Given the description of an element on the screen output the (x, y) to click on. 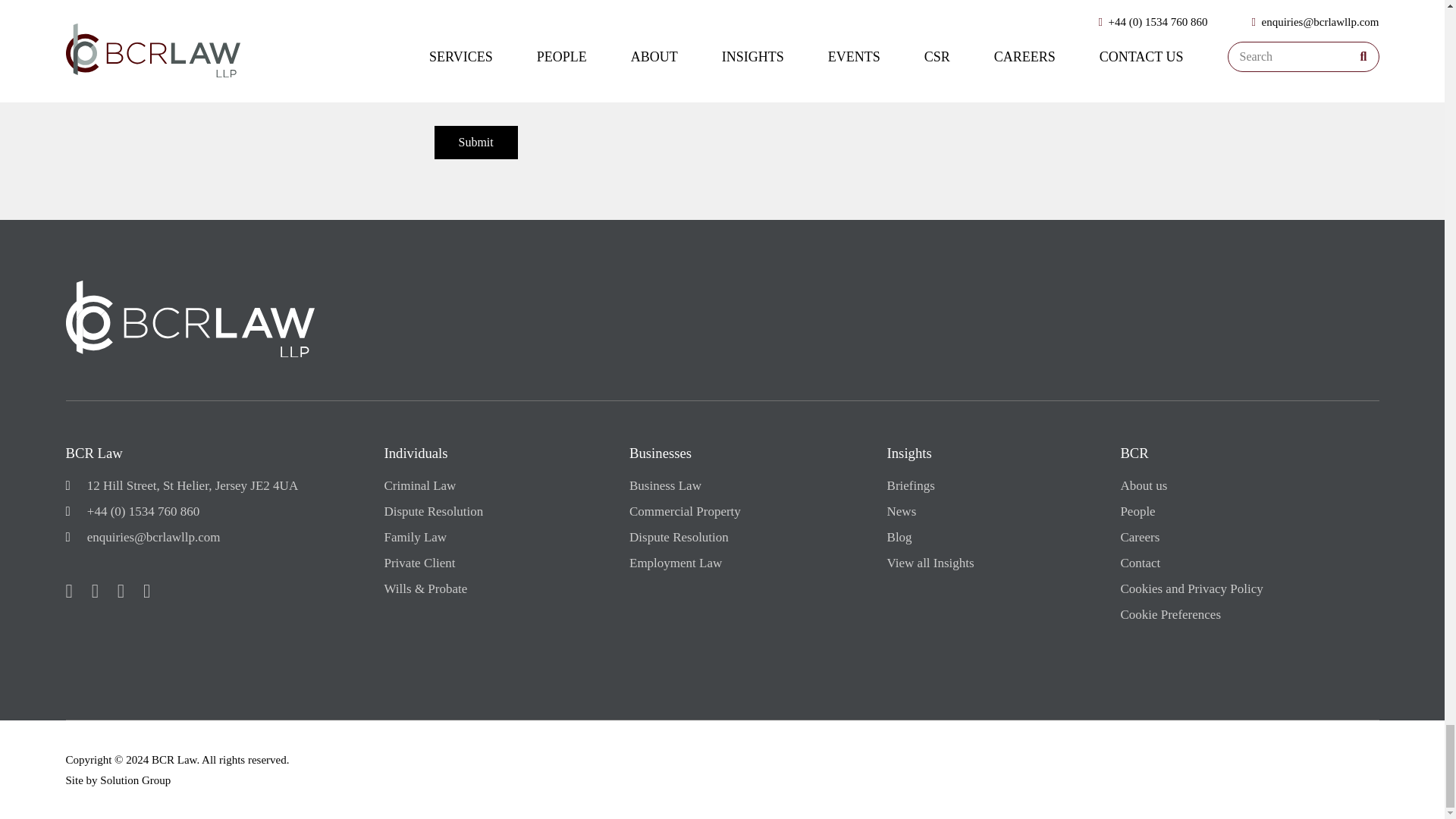
Submit (474, 142)
